Given the description of an element on the screen output the (x, y) to click on. 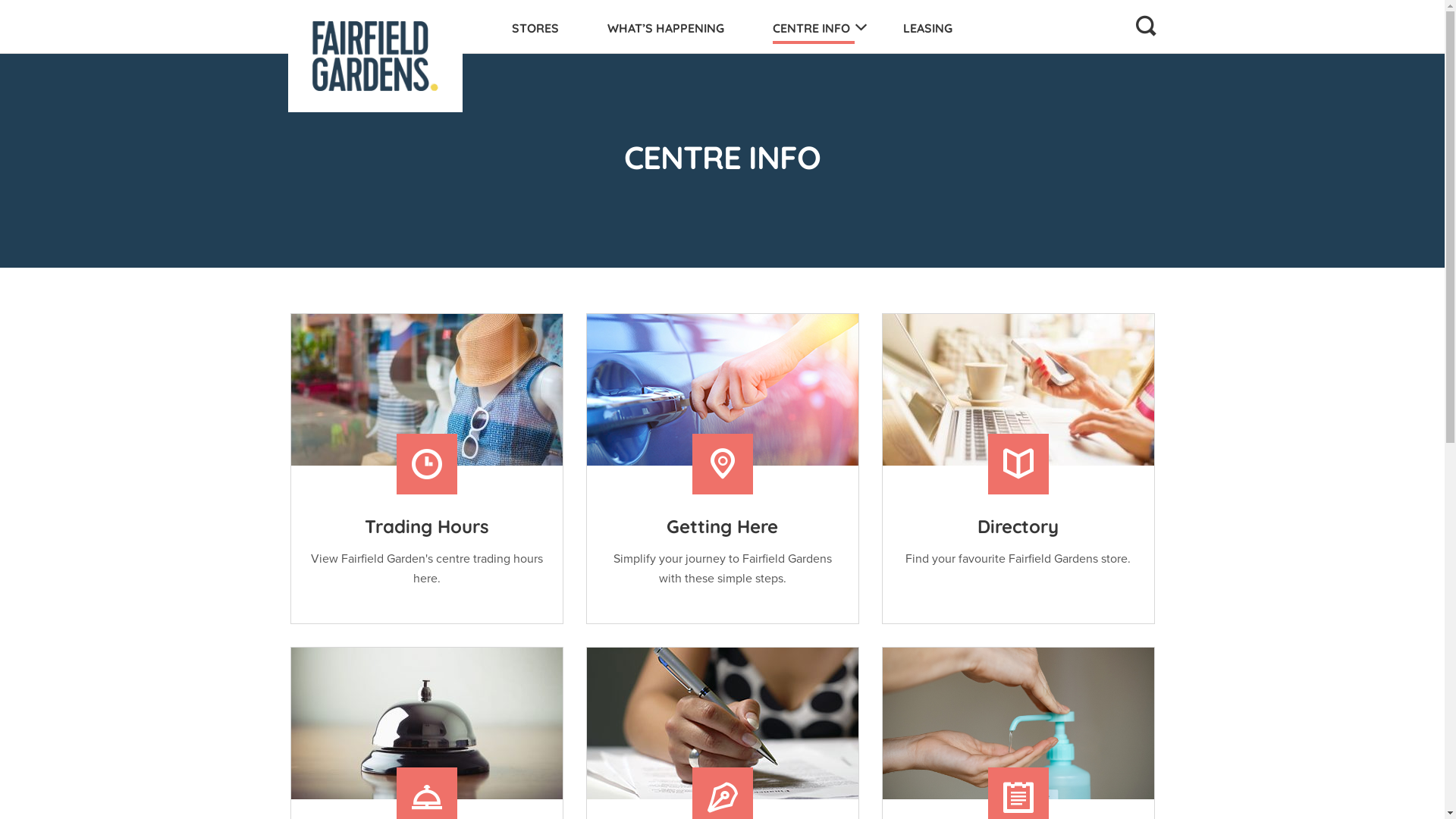
Directory
Find your favourite Fairfield Gardens store. Element type: text (1017, 468)
STORES Element type: text (534, 27)
LEASING Element type: text (926, 27)
CENTRE INFO Element type: text (812, 27)
